Given the description of an element on the screen output the (x, y) to click on. 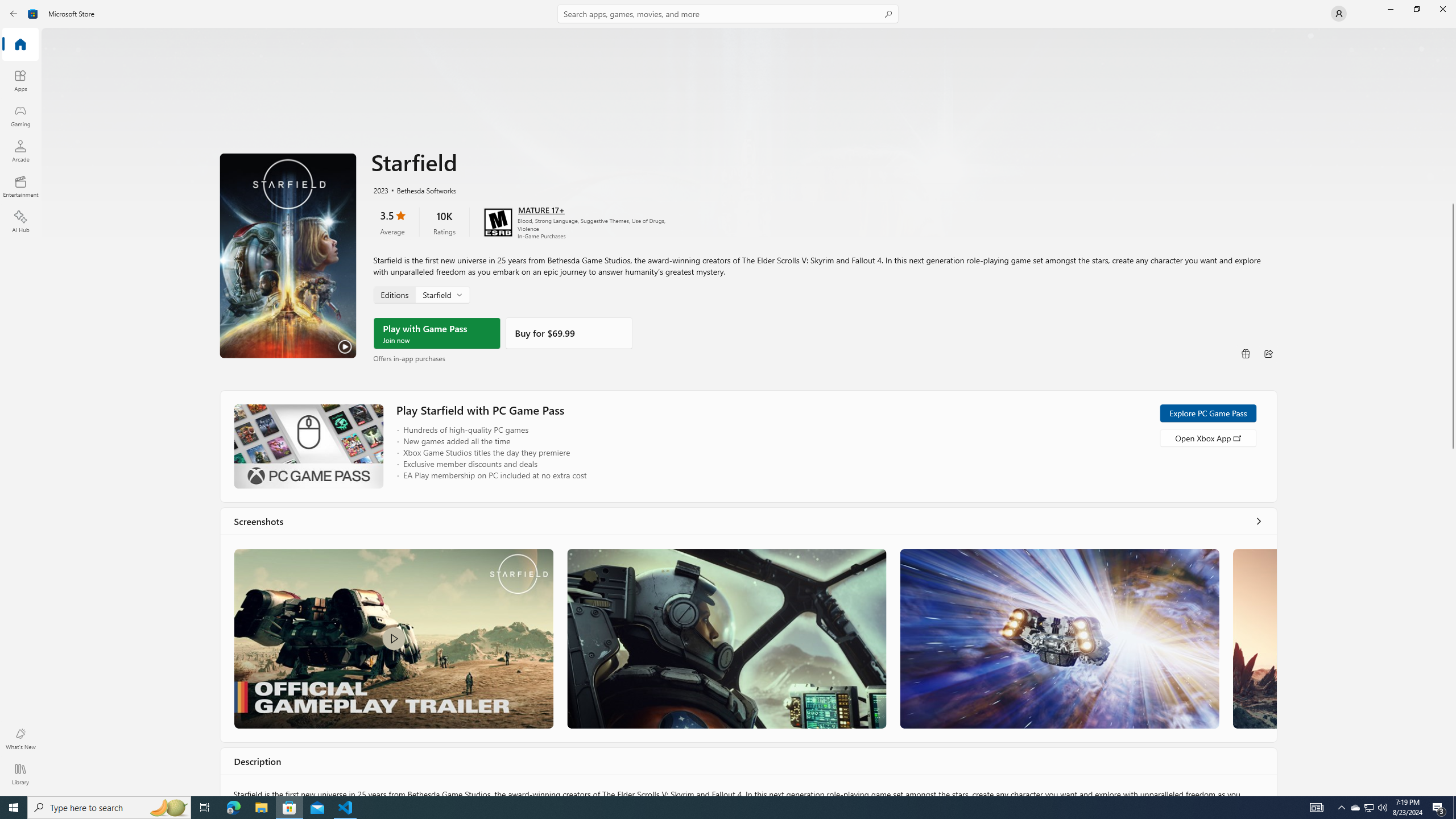
Bethesda Softworks (420, 189)
Search (727, 13)
Apps (20, 80)
Starfield, Edition selector (421, 294)
User profile (1338, 13)
What's New (20, 738)
See all (1258, 520)
AI Hub (20, 221)
Play with Game Pass (436, 332)
Gameplay Trailer (393, 638)
Vertical Large Decrease (1452, 118)
Vertical Small Decrease (1452, 31)
Gaming (20, 115)
Restore Microsoft Store (1416, 9)
Screenshot 3 (1058, 638)
